Given the description of an element on the screen output the (x, y) to click on. 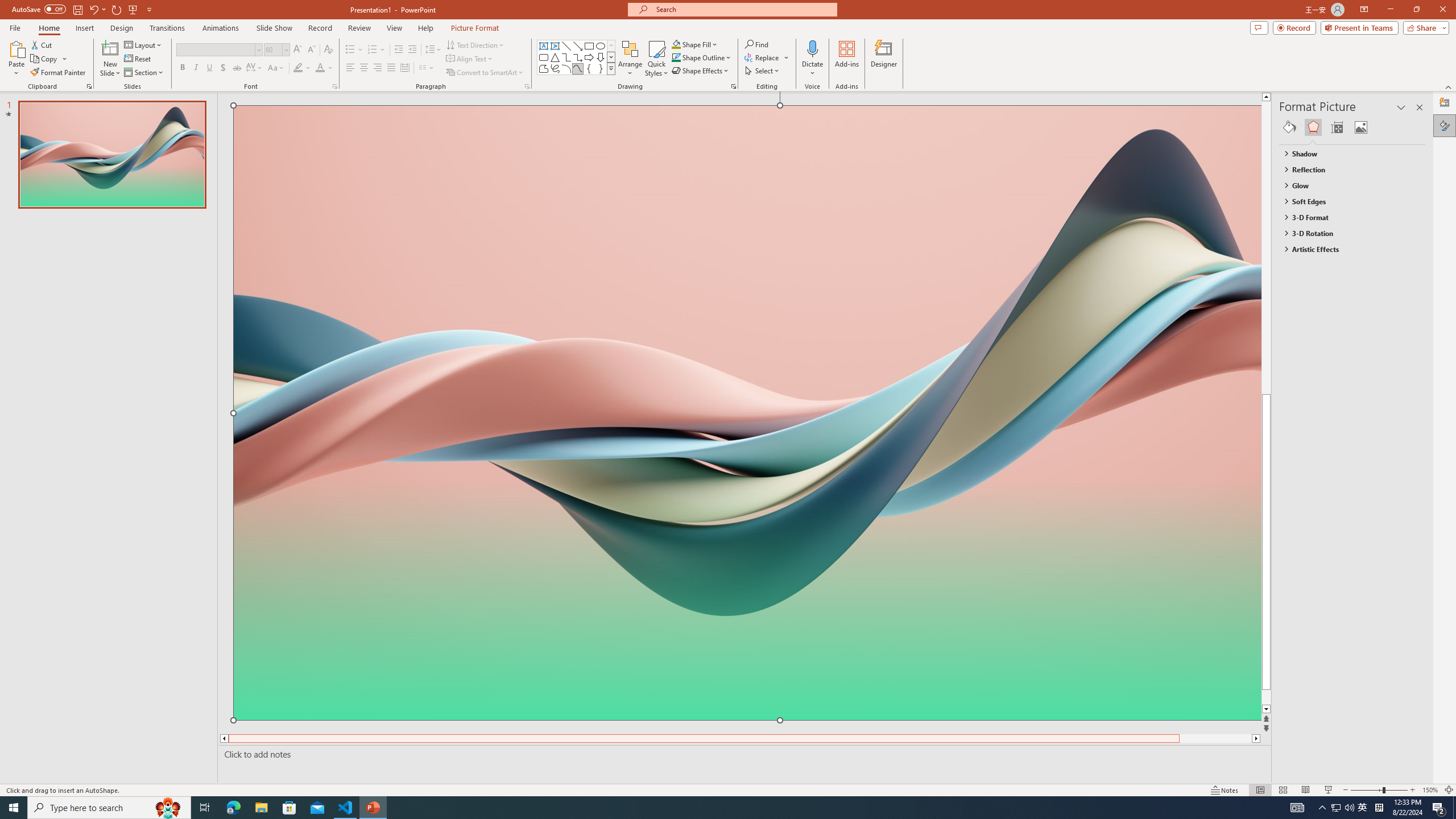
Class: NetUIGalleryContainer (1352, 126)
